Given the description of an element on the screen output the (x, y) to click on. 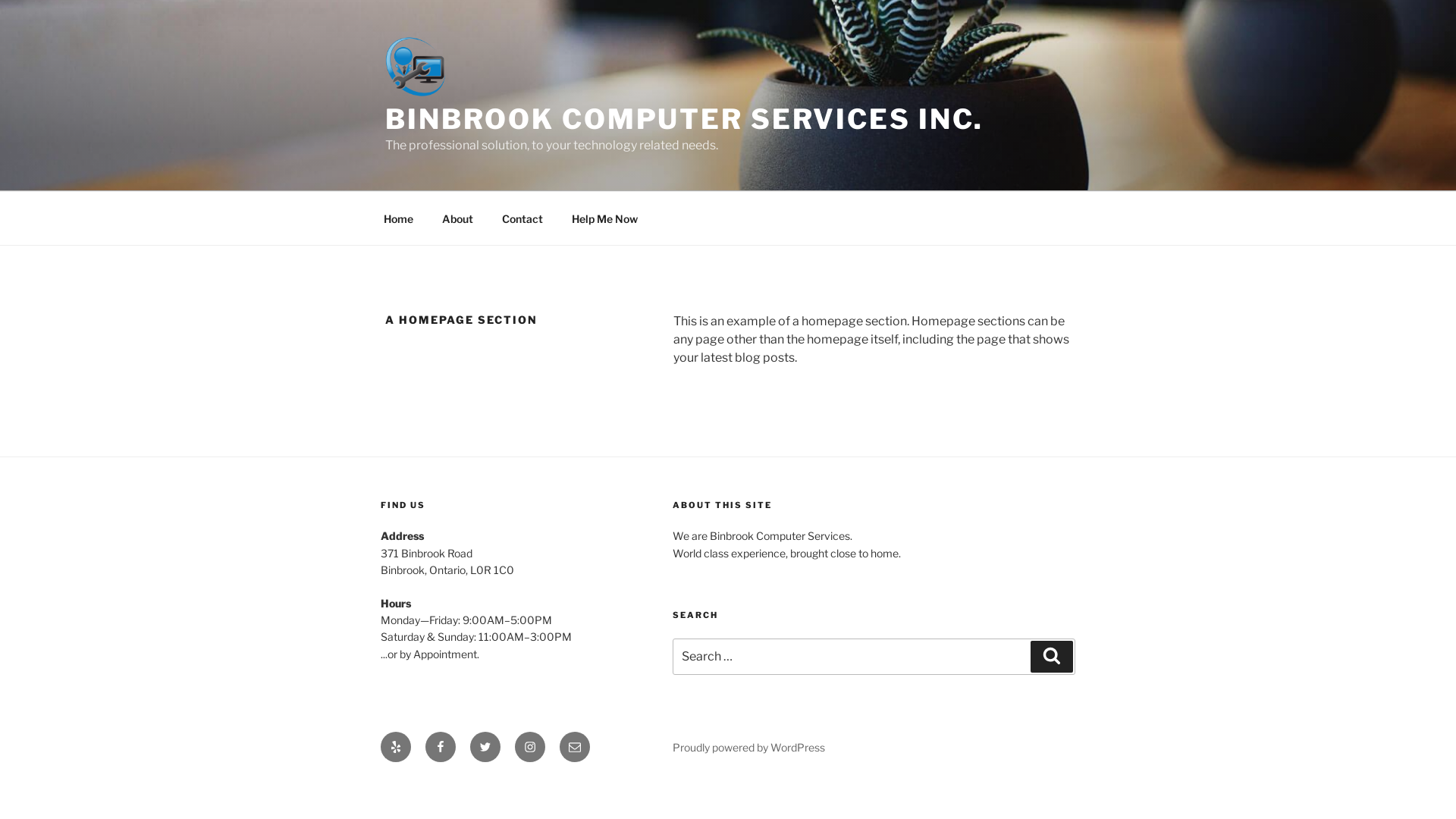
Email Element type: text (574, 746)
Home Element type: text (398, 218)
BINBROOK COMPUTER SERVICES INC. Element type: text (684, 118)
Help Me Now Element type: text (604, 218)
Search Element type: text (1051, 656)
Facebook Element type: text (440, 746)
Contact Element type: text (521, 218)
Proudly powered by WordPress Element type: text (748, 746)
About Element type: text (457, 218)
Instagram Element type: text (529, 746)
Twitter Element type: text (485, 746)
Yelp Element type: text (395, 746)
